Given the description of an element on the screen output the (x, y) to click on. 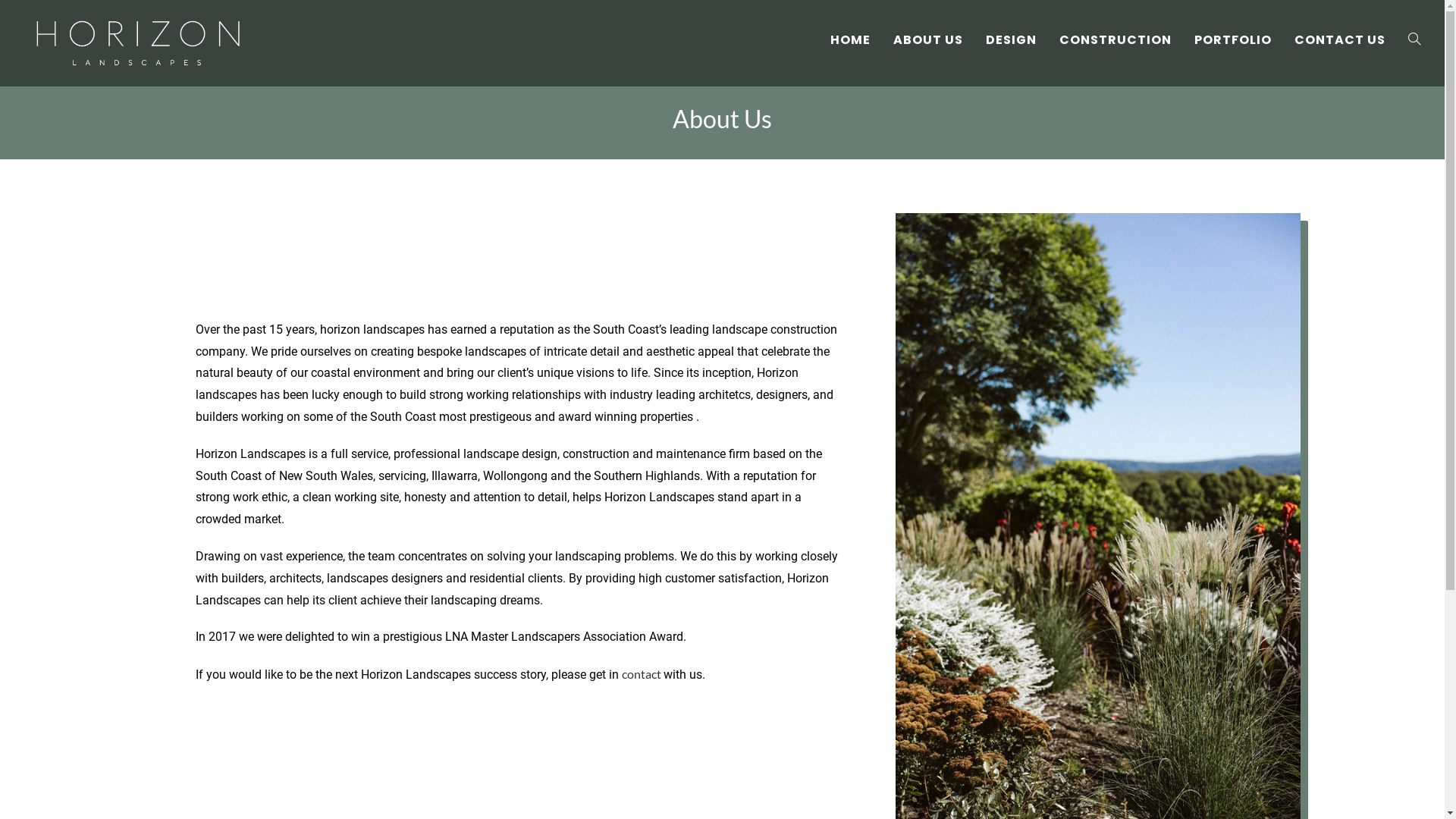
PORTFOLIO Element type: text (1233, 40)
CONSTRUCTION Element type: text (1115, 40)
CONTACT US Element type: text (1339, 40)
ABOUT US Element type: text (927, 40)
HOME Element type: text (850, 40)
DESIGN Element type: text (1011, 40)
contact Element type: text (642, 673)
